Given the description of an element on the screen output the (x, y) to click on. 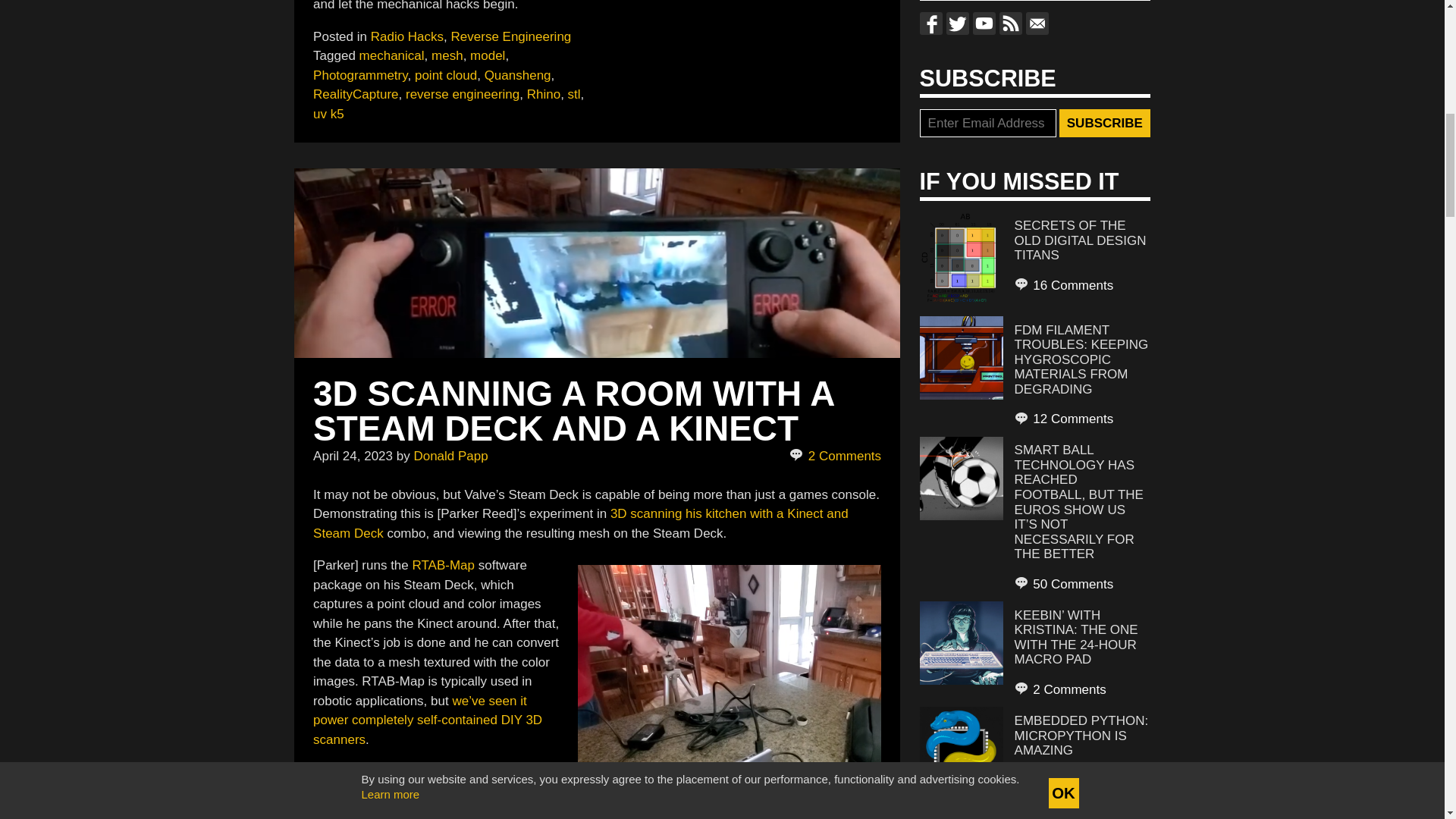
model (487, 55)
3D SCANNING A ROOM WITH A STEAM DECK AND A KINECT (573, 410)
Subscribe (1104, 123)
RealityCapture (355, 93)
uv k5 (328, 113)
stl (573, 93)
point cloud (445, 74)
reverse engineering (462, 93)
Radio Hacks (407, 35)
mesh (446, 55)
Reverse Engineering (511, 35)
Photogrammetry (360, 74)
April 24, 2023 (353, 455)
Quansheng (517, 74)
April 24, 2023 - 4:00 am (353, 455)
